Given the description of an element on the screen output the (x, y) to click on. 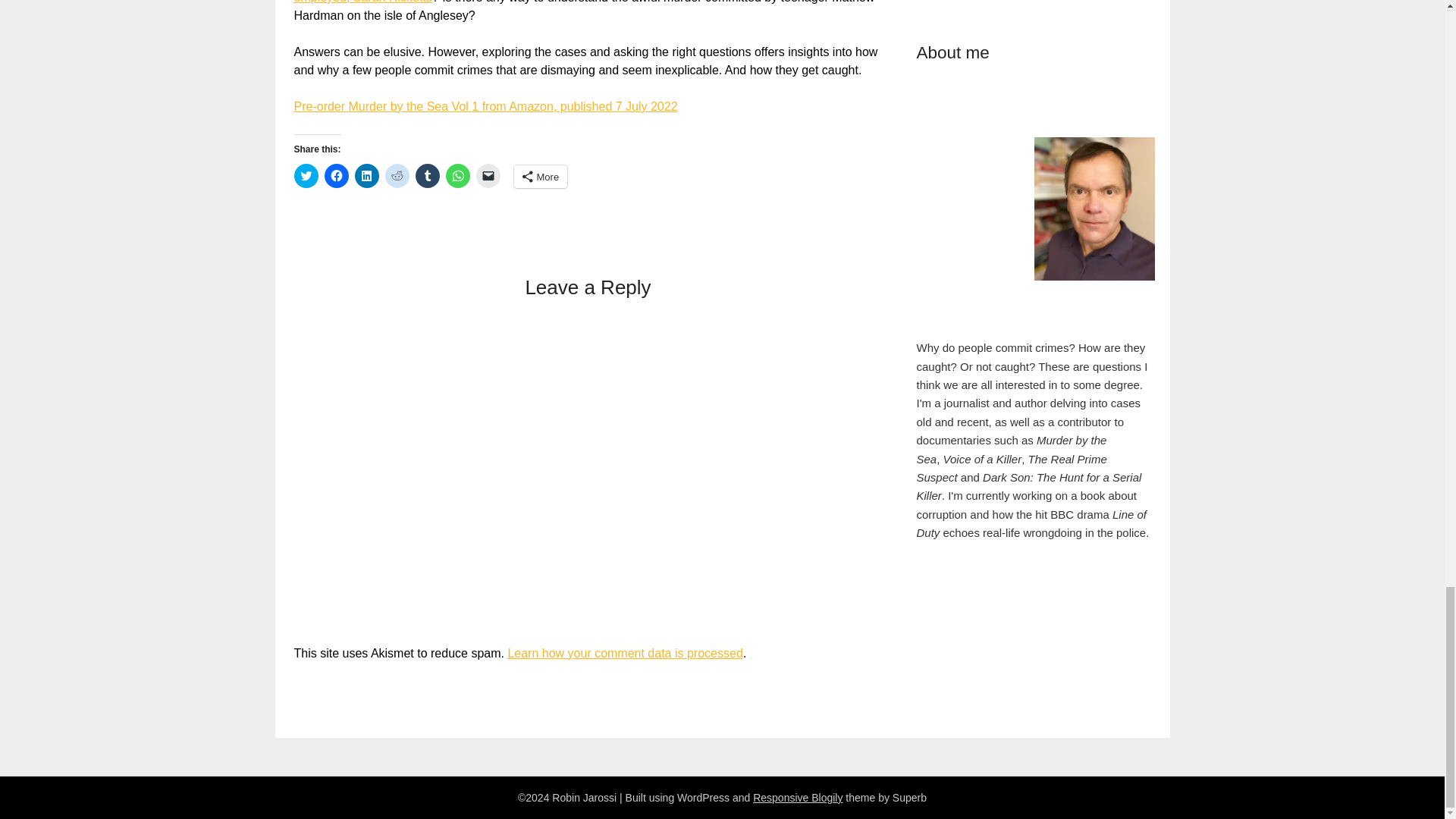
Responsive Blogily (797, 797)
Click to share on LinkedIn (366, 175)
Click to email a link to a friend (488, 175)
Click to share on Twitter (306, 175)
More (540, 176)
Click to share on Facebook (336, 175)
Click to share on Reddit (397, 175)
